Given the description of an element on the screen output the (x, y) to click on. 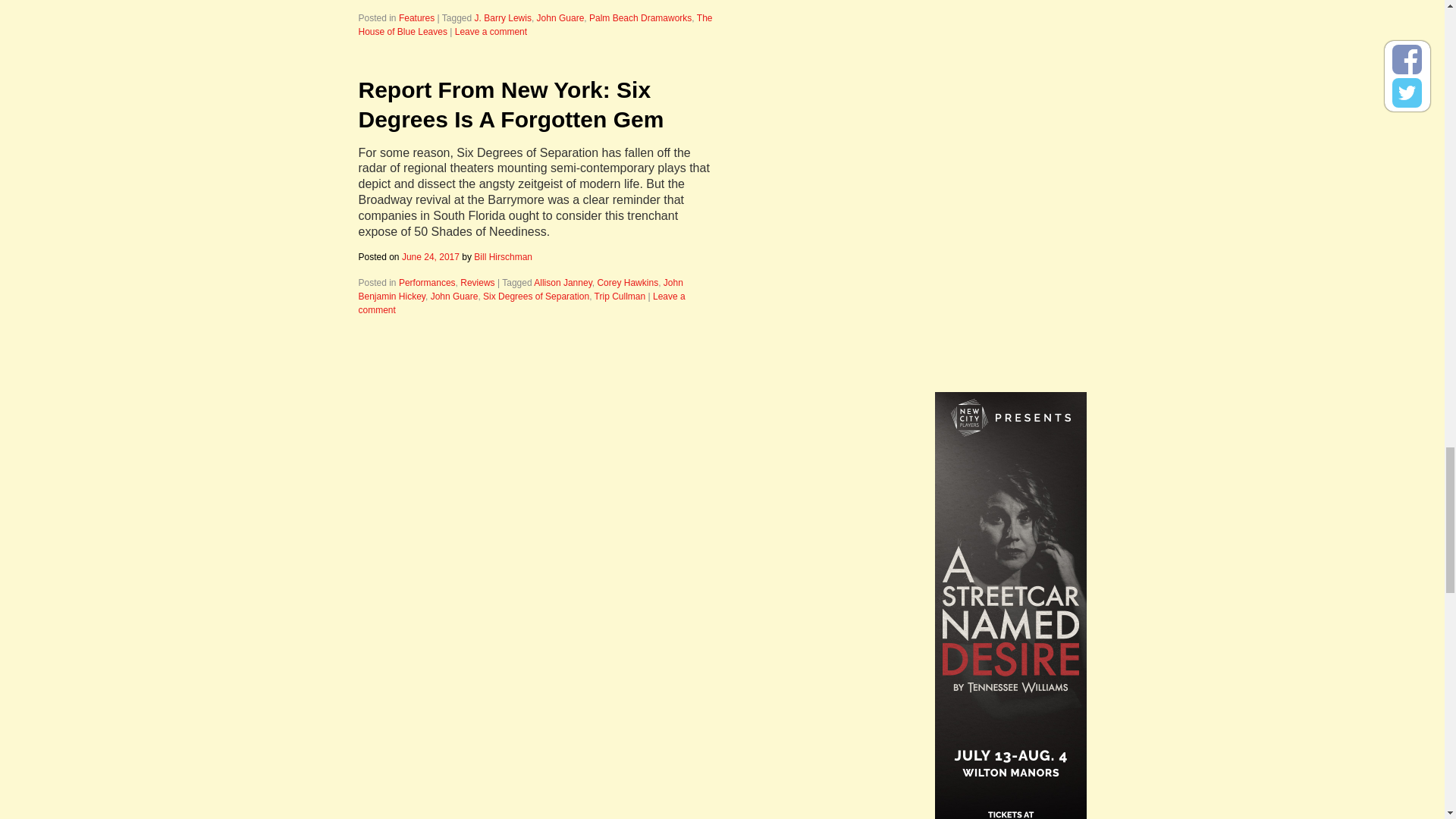
View all posts by Bill Hirschman (503, 256)
10:41 pm (430, 256)
